Given the description of an element on the screen output the (x, y) to click on. 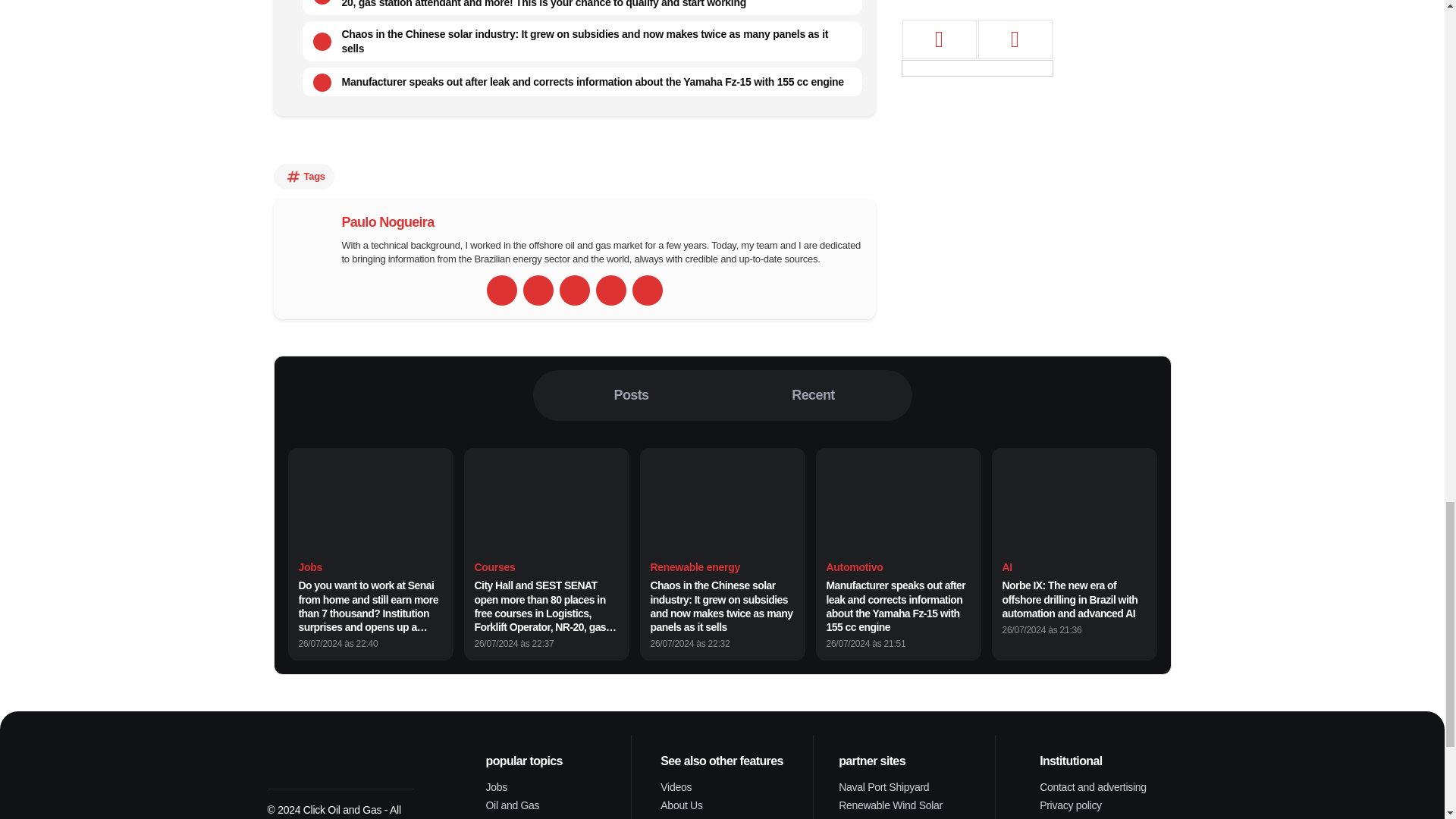
linkedin (610, 290)
Twitter (574, 290)
Instagram (646, 290)
url (501, 290)
Facebook (537, 290)
